Given the description of an element on the screen output the (x, y) to click on. 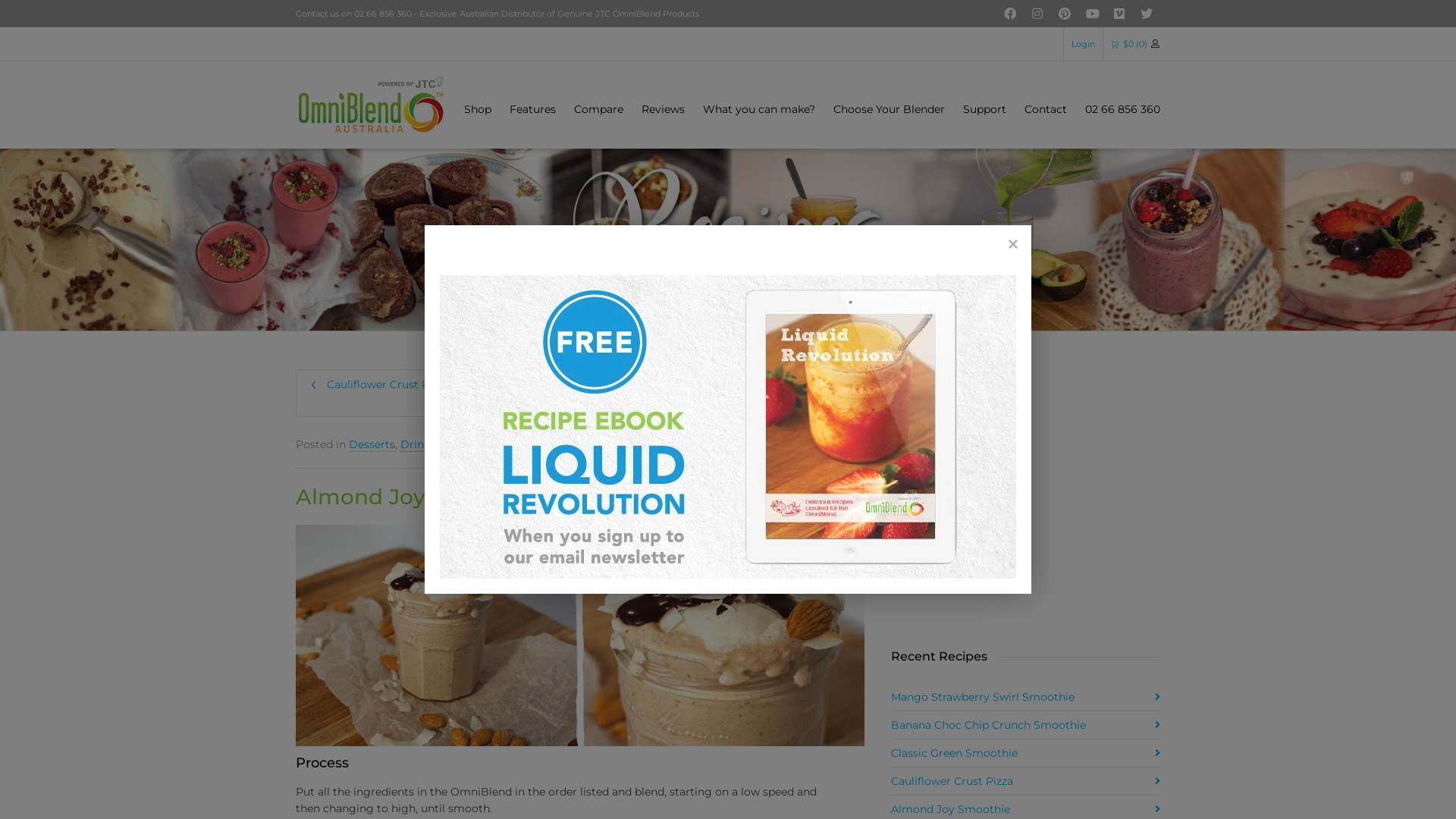
Login Element type: text (1083, 43)
Cauliflower Crust Pizza Element type: text (438, 384)
Close this box Element type: hover (1012, 243)
Choose Your Blender Element type: text (888, 109)
Desserts Element type: text (371, 444)
Recipes Element type: text (460, 444)
Preview Element type: hover (955, 379)
Compare Element type: text (598, 109)
What you can make? Element type: text (758, 109)
Classic Green Smoothie Element type: text (1025, 752)
Features Element type: text (532, 109)
Shop Element type: text (477, 109)
$0 (0) Element type: text (1128, 43)
Banana Choc Chip Crunch Smoothie Element type: text (1025, 724)
Reviews Element type: text (662, 109)
Mango Strawberry Swirl Smoothie Element type: text (1025, 696)
Cauliflower Crust Pizza Element type: text (1025, 780)
02 66 856 360 Element type: text (1122, 109)
Drinks Element type: text (417, 444)
Support Element type: text (984, 109)
Contact Element type: text (1045, 109)
